Given the description of an element on the screen output the (x, y) to click on. 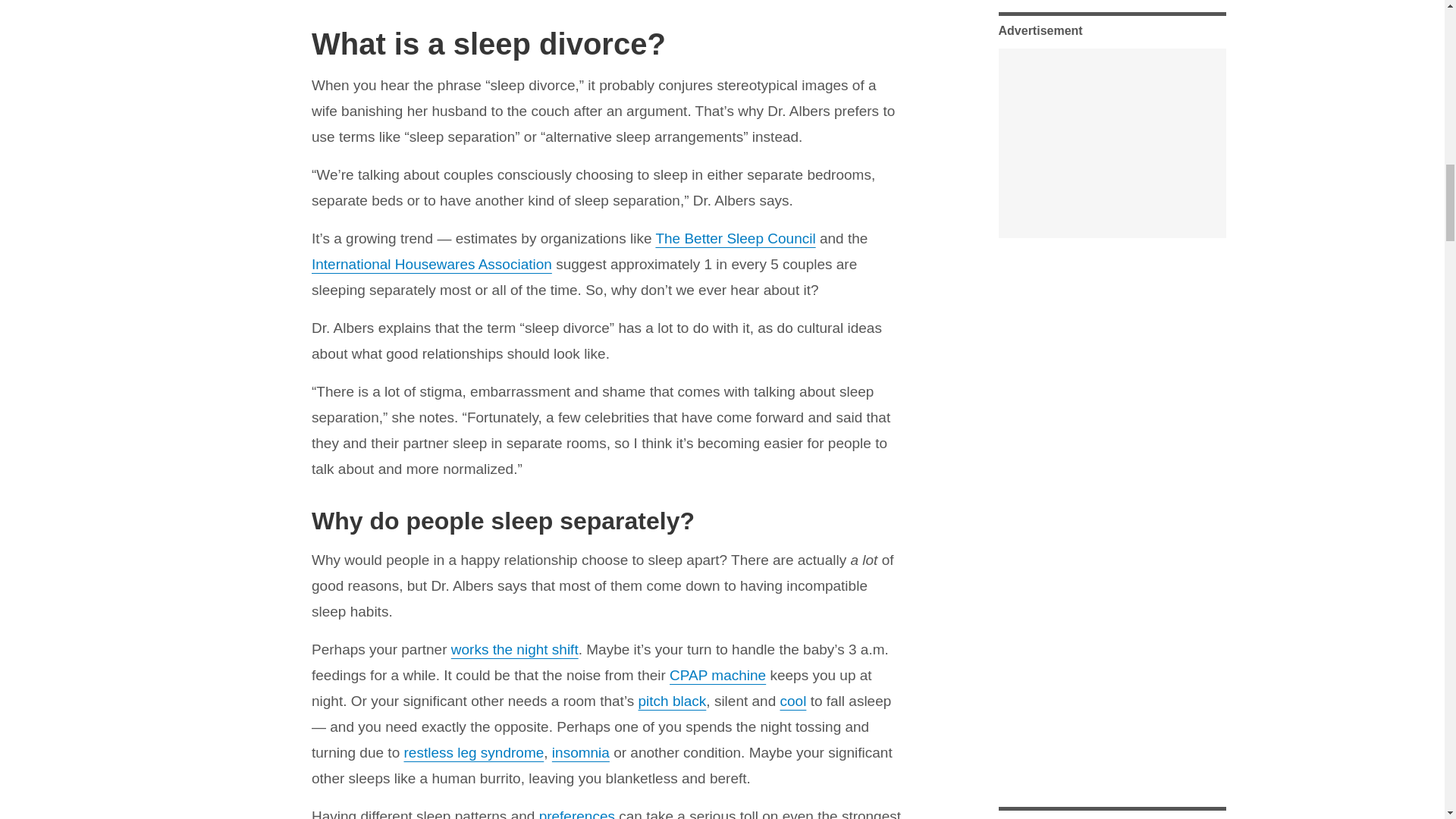
insomnia (580, 752)
cool (792, 700)
preferences (576, 813)
The Better Sleep Council (735, 238)
CPAP machine (717, 675)
works the night shift (514, 649)
restless leg syndrome (473, 752)
pitch black (672, 700)
International Housewares Association (431, 263)
